Given the description of an element on the screen output the (x, y) to click on. 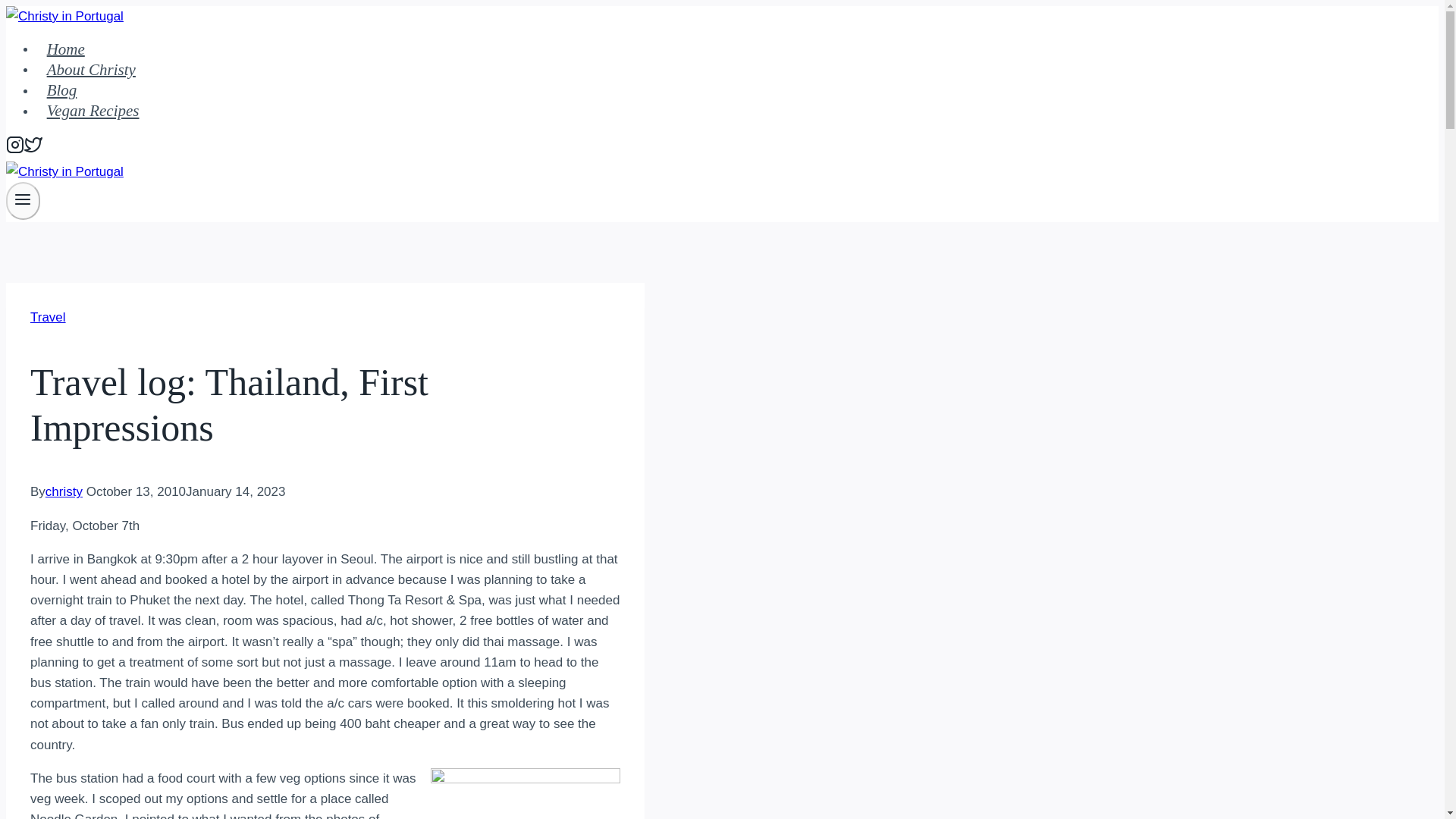
Instagram (14, 144)
Home (65, 48)
Twitter (33, 144)
Vegan Recipes (92, 109)
Toggle Menu (22, 200)
Toggle Menu (22, 199)
About Christy (91, 68)
Blog (61, 89)
christy (63, 491)
